Given the description of an element on the screen output the (x, y) to click on. 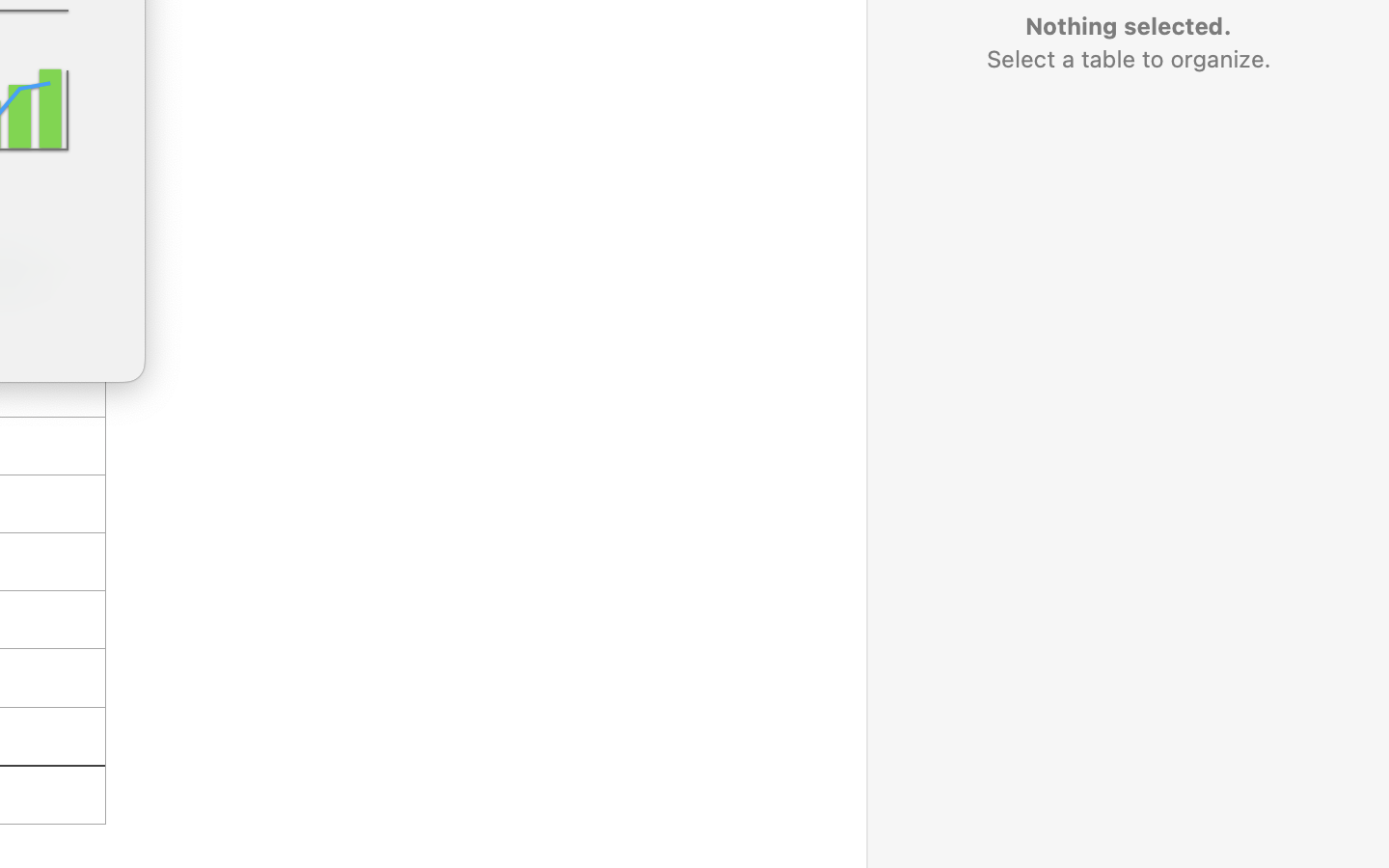
Select a table to organize. Element type: AXStaticText (1127, 58)
Nothing selected. Element type: AXStaticText (1127, 25)
